Given the description of an element on the screen output the (x, y) to click on. 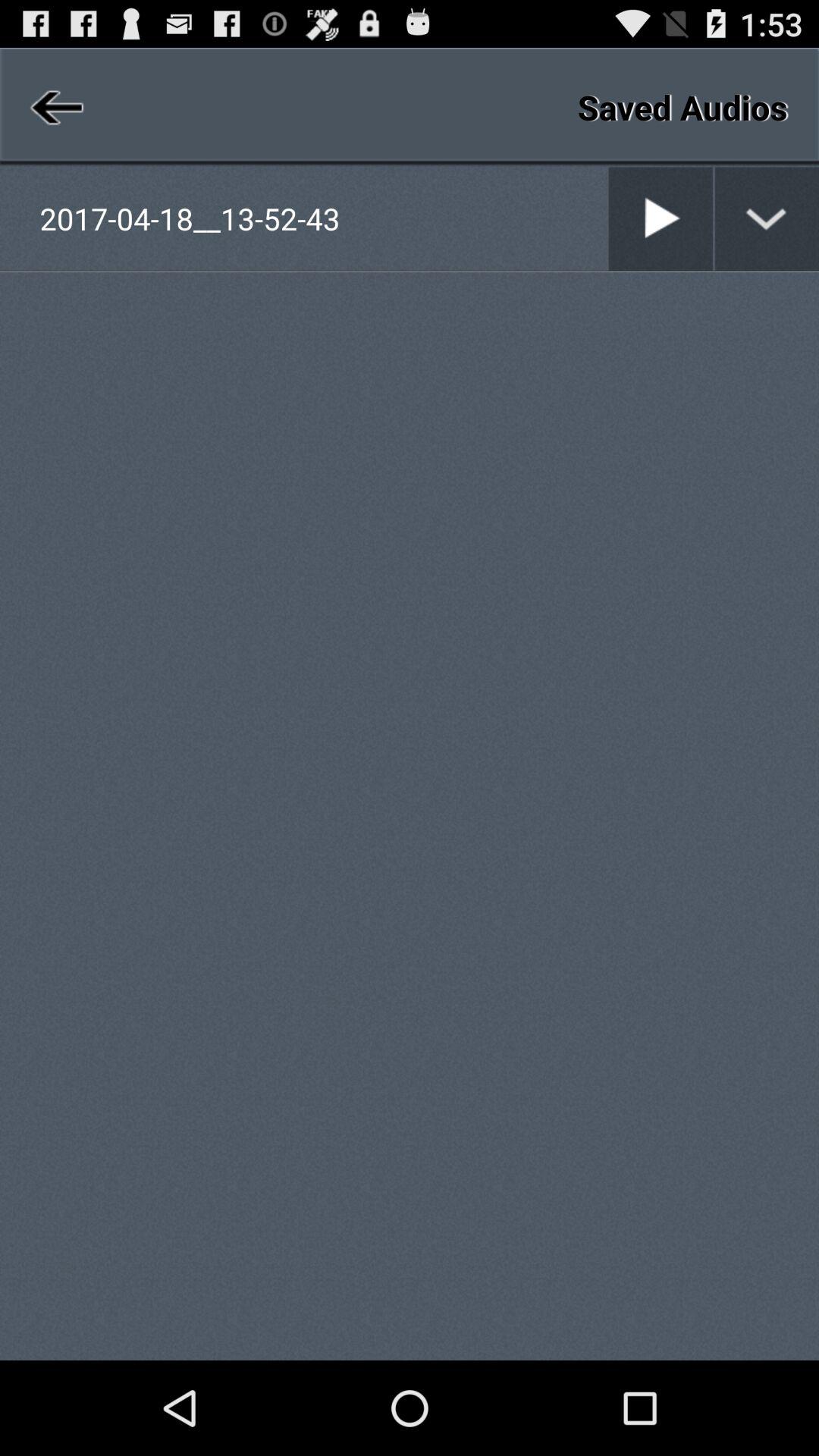
select icon above 2017 04 18__13 (54, 107)
